Given the description of an element on the screen output the (x, y) to click on. 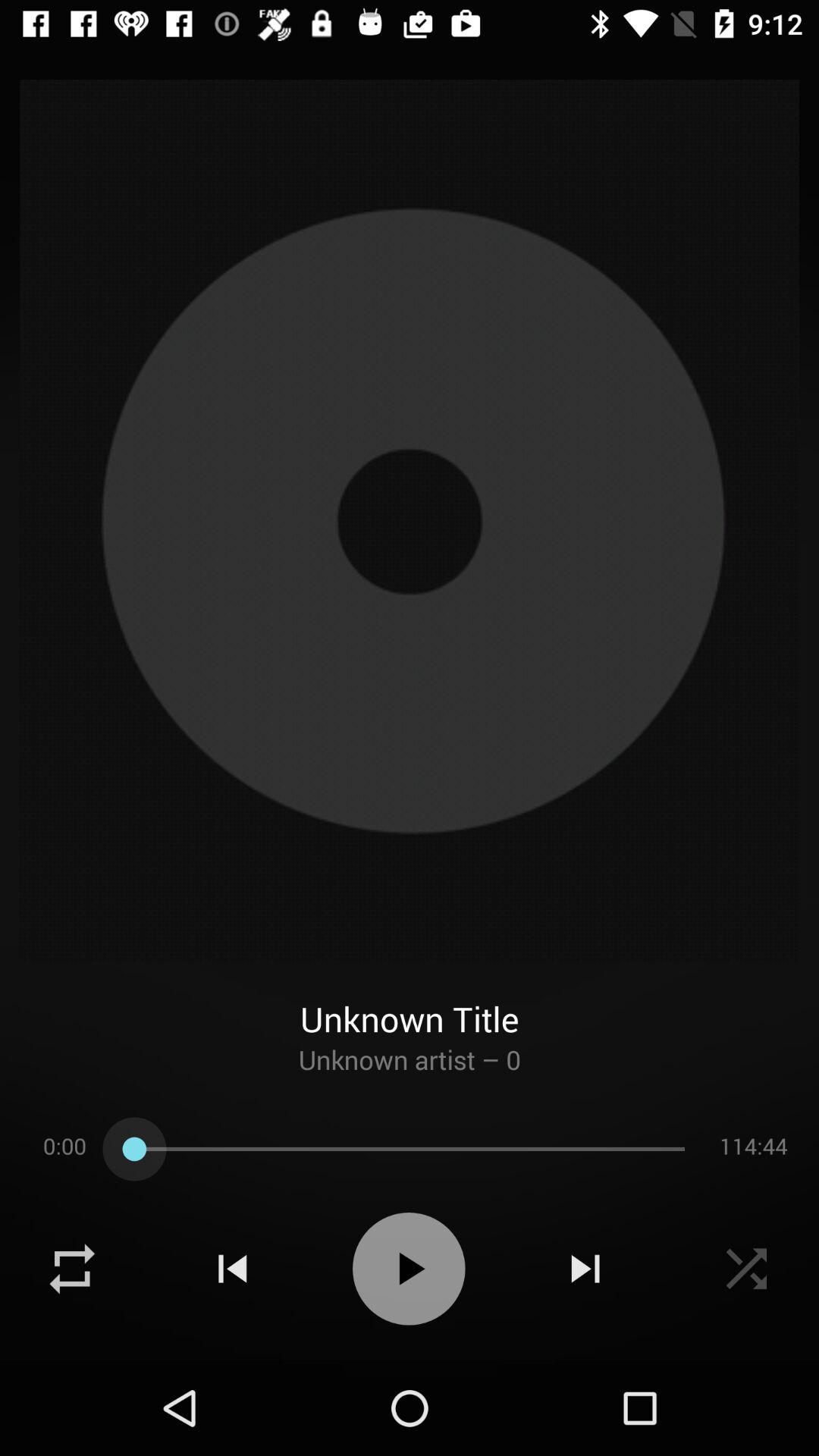
toggle to shuffle option (72, 1268)
